Given the description of an element on the screen output the (x, y) to click on. 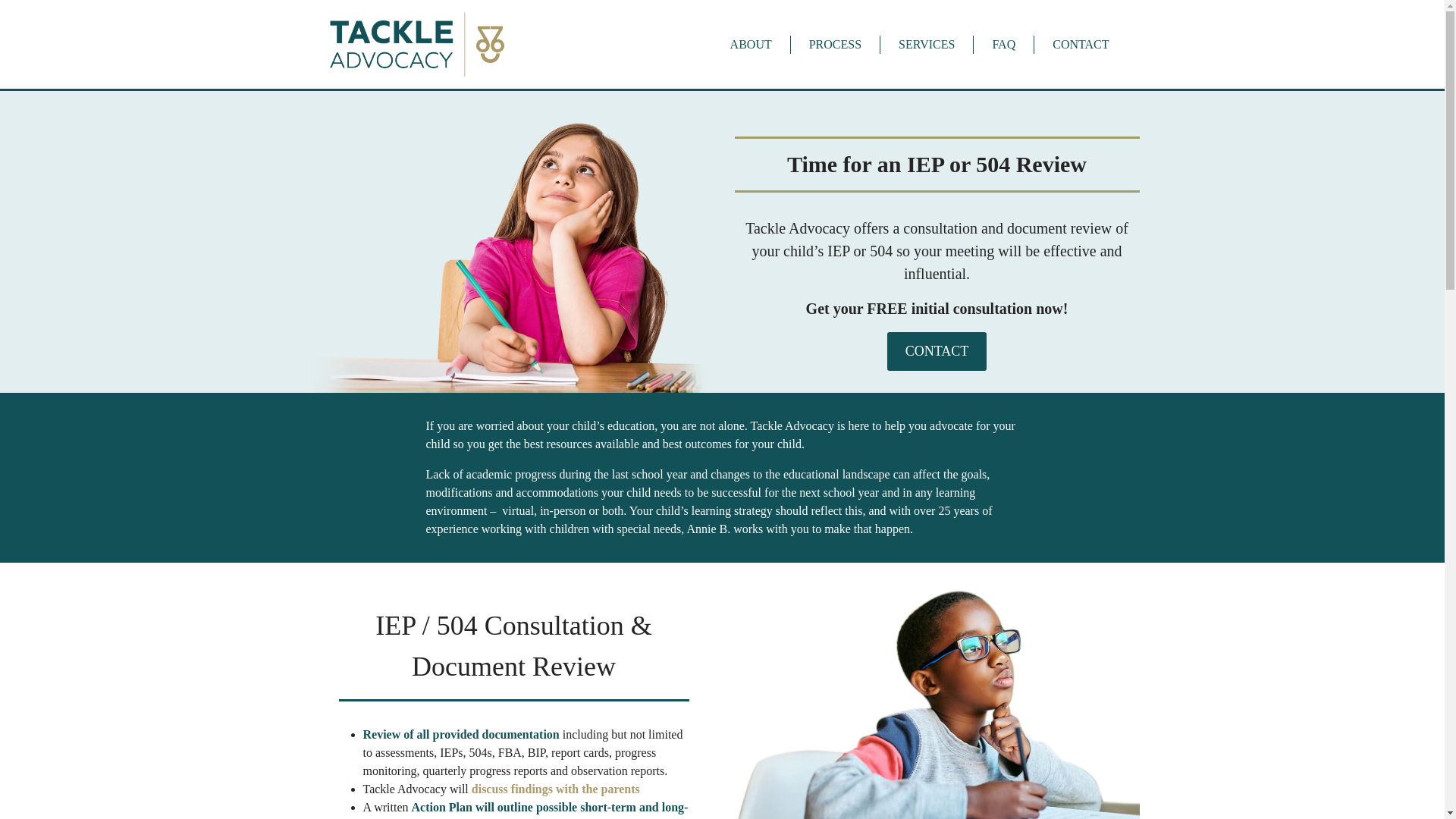
CONTACT (1079, 44)
SERVICES (926, 44)
PROCESS (834, 44)
ABOUT (750, 44)
FAQ (1003, 44)
CONTACT (936, 351)
